Given the description of an element on the screen output the (x, y) to click on. 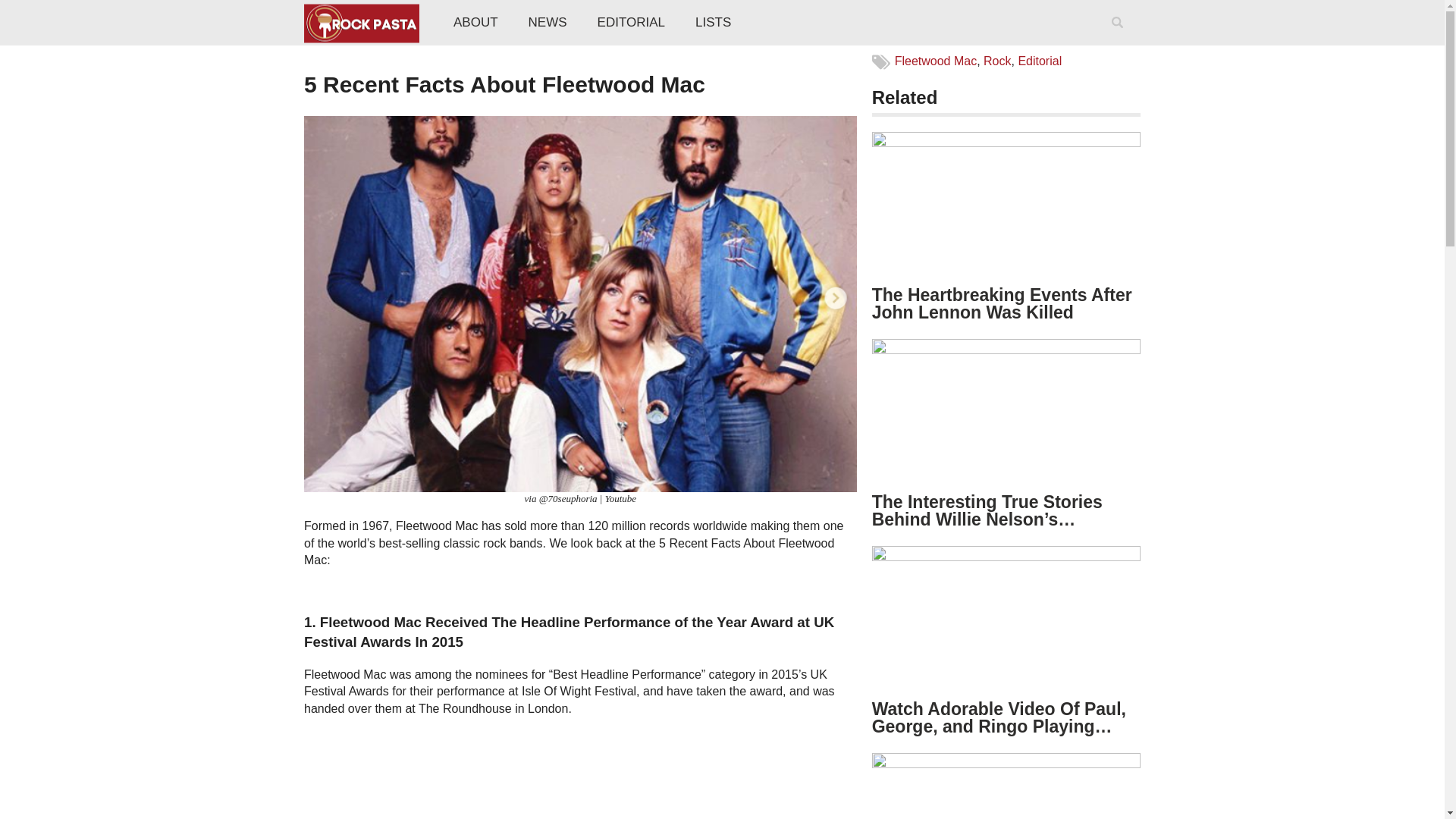
Search (1120, 42)
Search (1120, 42)
Search (1120, 42)
ABOUT (475, 22)
Fleetwood Mac (935, 60)
The Heartbreaking Events After John Lennon Was Killed (1002, 303)
NEWS (547, 22)
EDITORIAL (630, 22)
LISTS (712, 22)
Rock (997, 60)
